Given the description of an element on the screen output the (x, y) to click on. 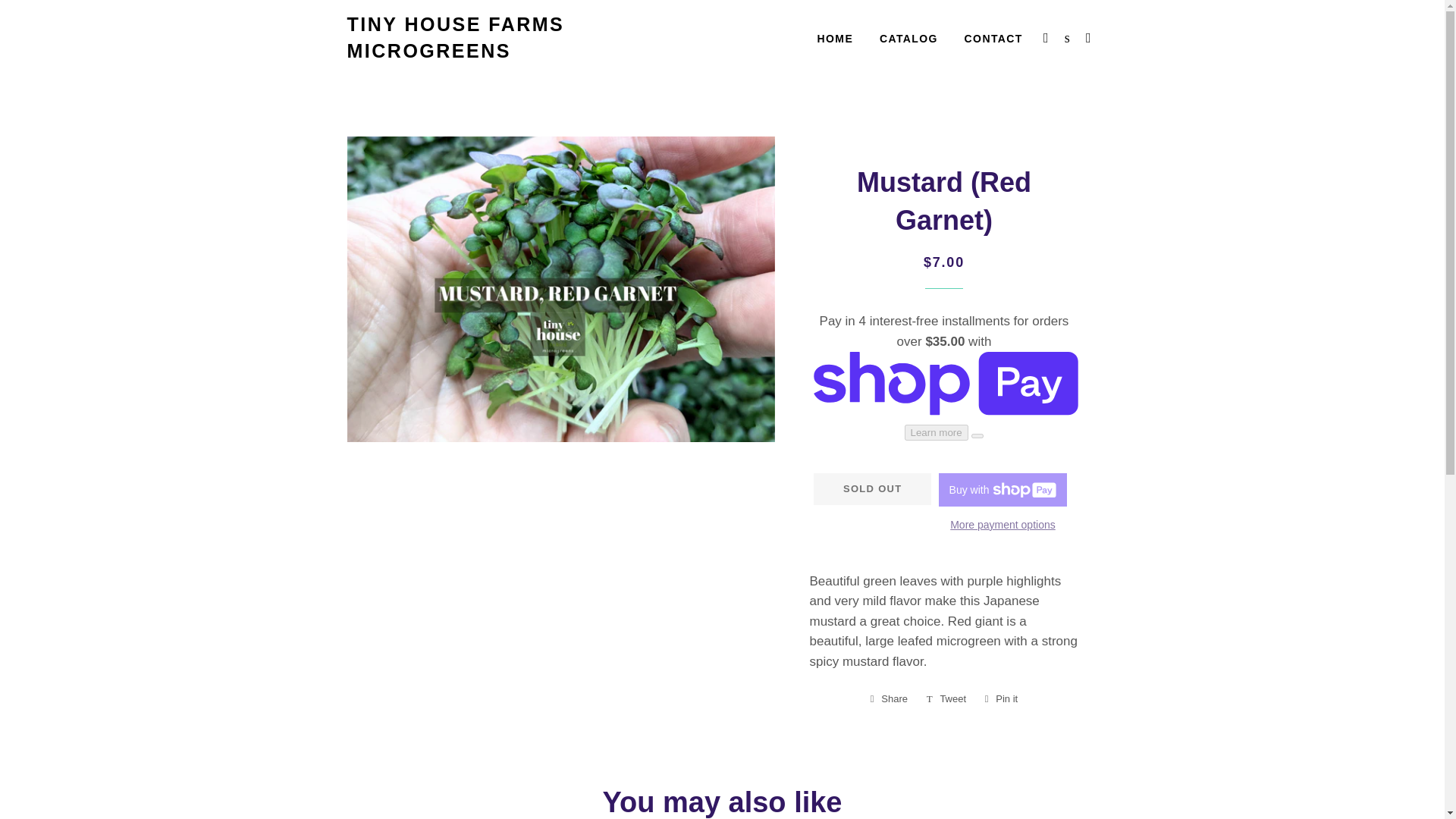
Pin on Pinterest (1000, 698)
CATALOG (908, 38)
TINY HOUSE FARMS MICROGREENS (471, 37)
More payment options (1003, 524)
Tweet on Twitter (946, 698)
CART (1088, 37)
HOME (1000, 698)
SOLD OUT (835, 38)
CONTACT (889, 698)
LOG IN (872, 489)
SEARCH (993, 38)
Share on Facebook (1046, 37)
